Given the description of an element on the screen output the (x, y) to click on. 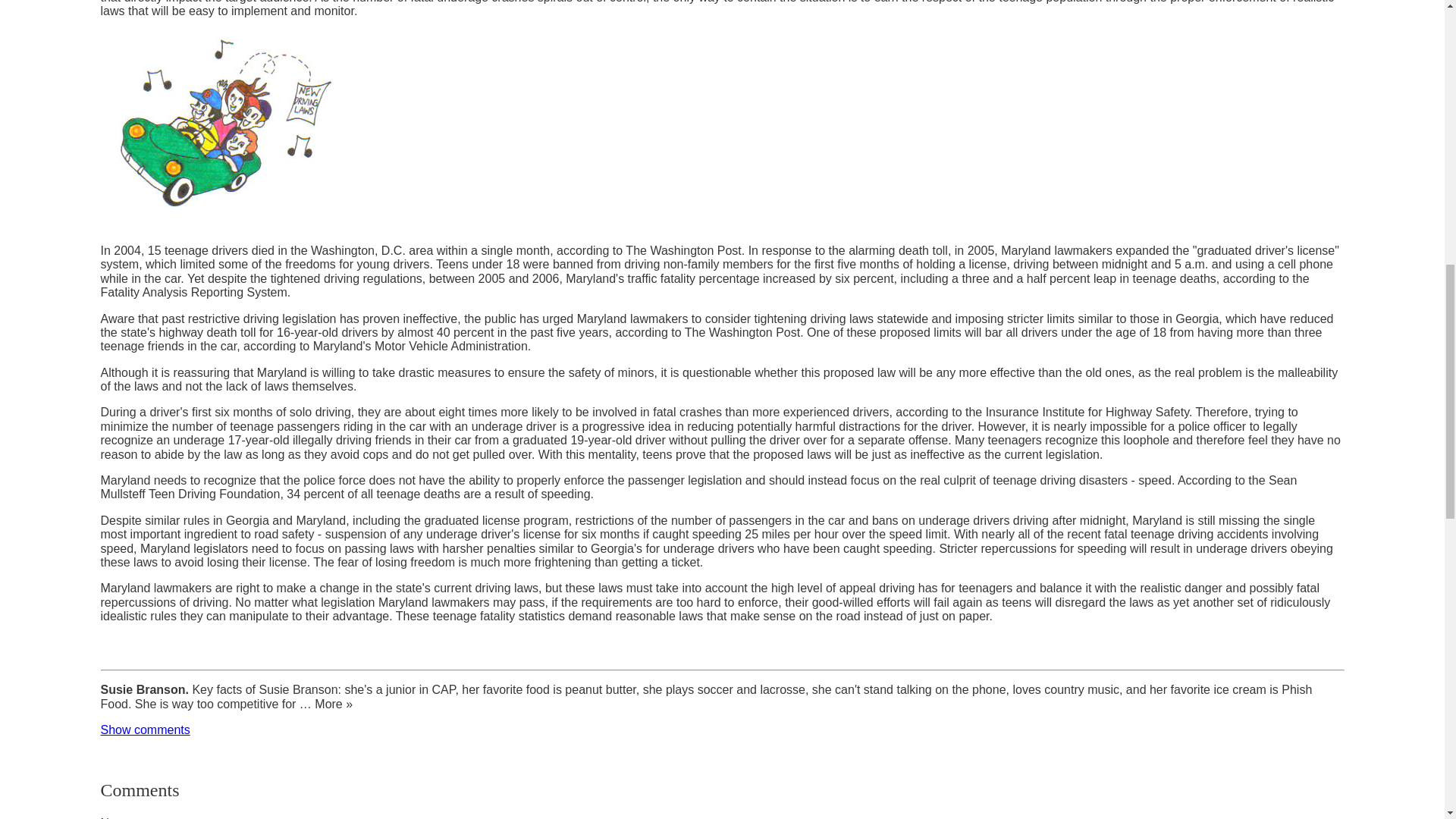
Show comments (144, 729)
